Given the description of an element on the screen output the (x, y) to click on. 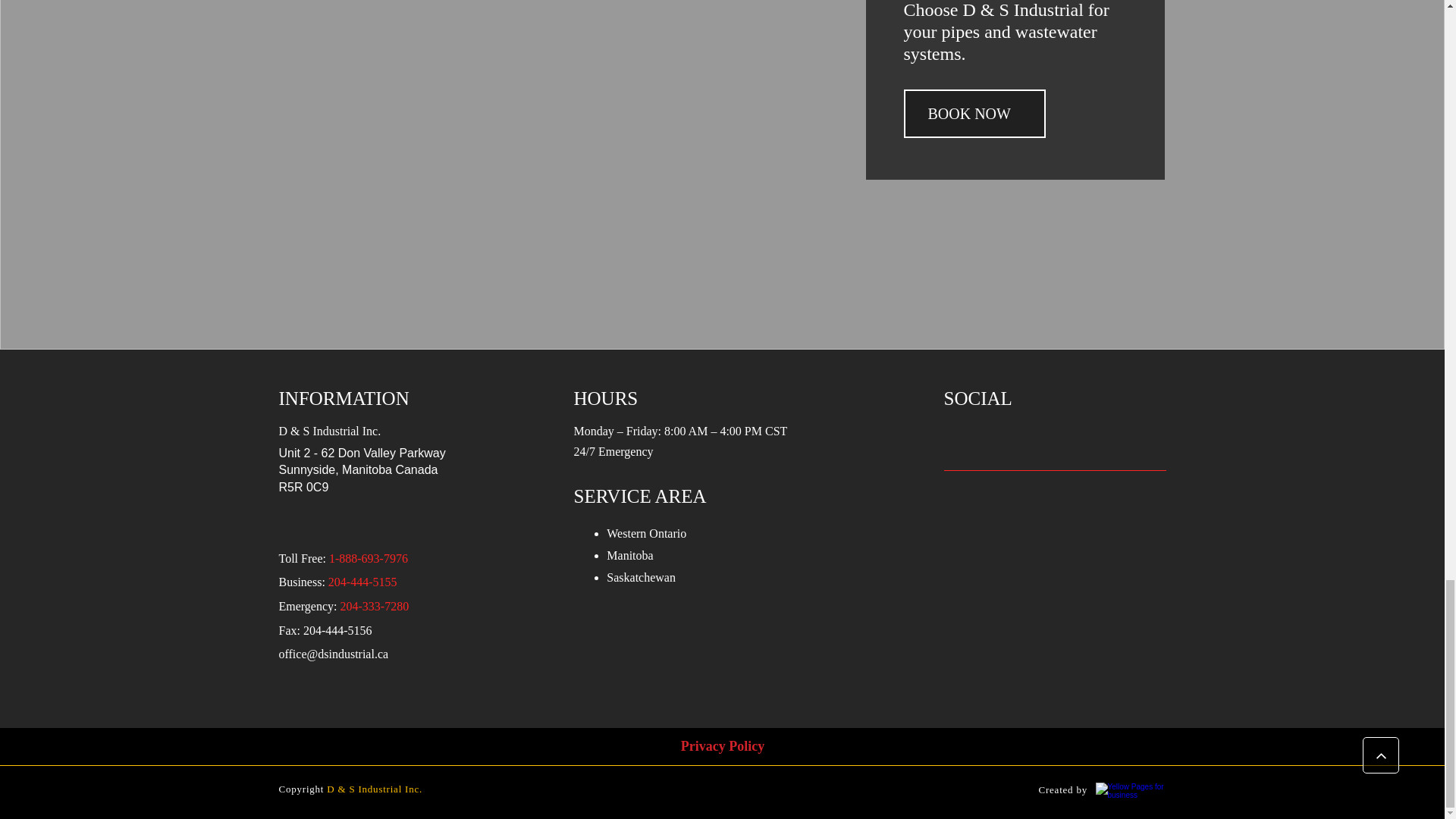
1-888-693-7976 (368, 560)
204-333-7280 (374, 607)
Privacy Policy (722, 747)
BOOK NOW (974, 113)
204-444-5155 (363, 583)
